Given the description of an element on the screen output the (x, y) to click on. 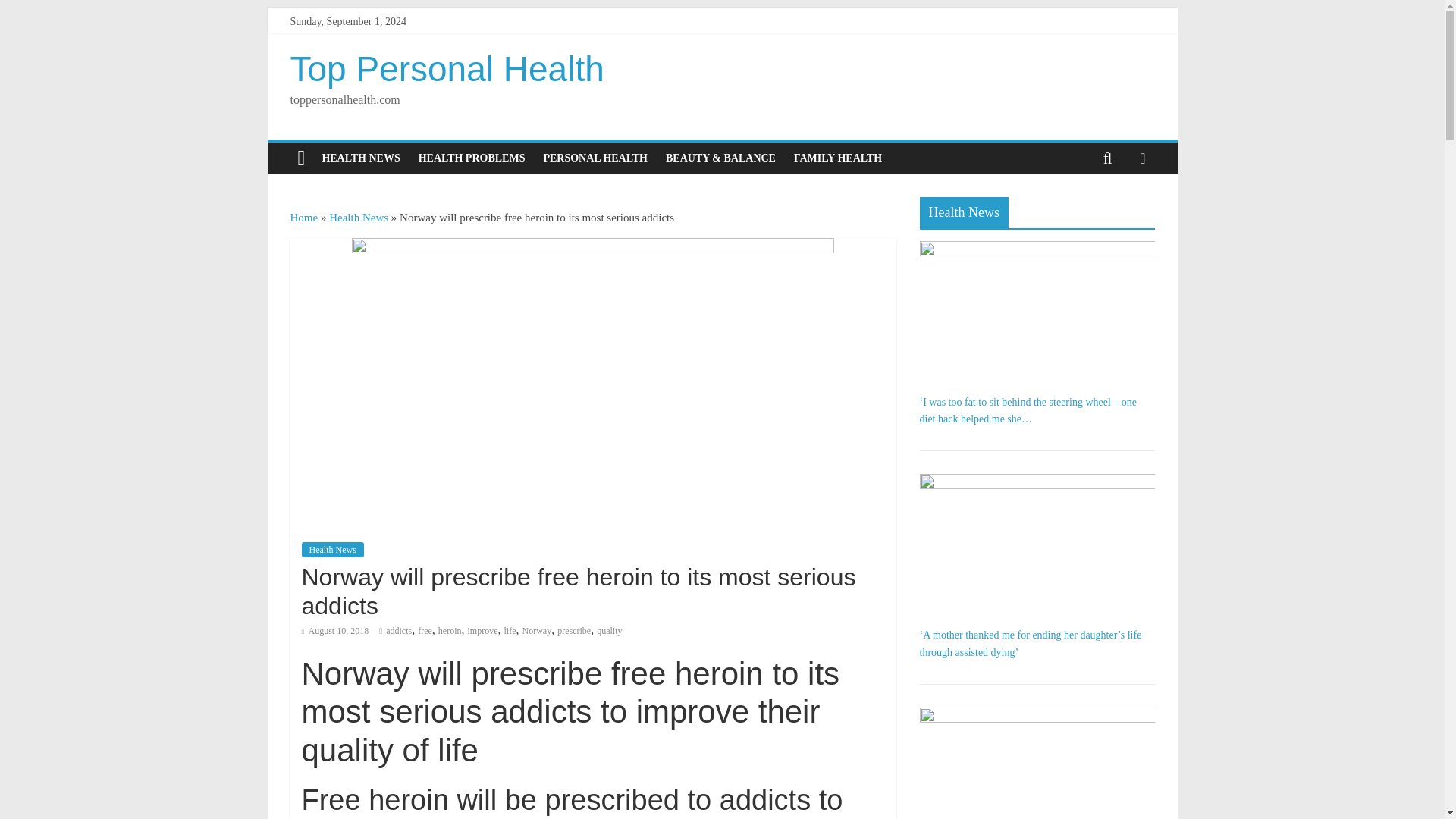
FAMILY HEALTH (837, 158)
August 10, 2018 (335, 630)
Health News (358, 217)
addicts (398, 630)
Home (303, 217)
quality (608, 630)
improve (482, 630)
4:15 pm (335, 630)
PERSONAL HEALTH (595, 158)
Health News (332, 549)
